Given the description of an element on the screen output the (x, y) to click on. 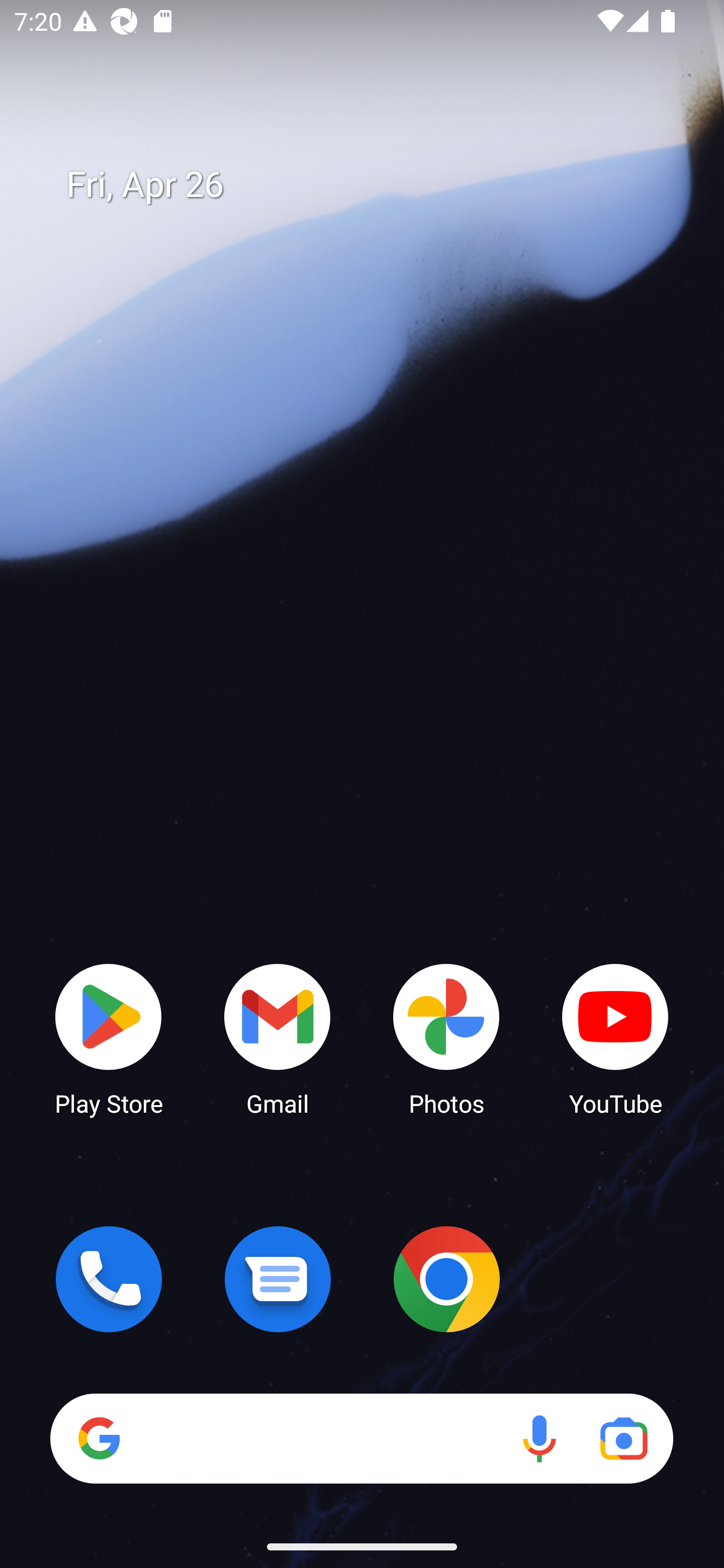
Fri, Apr 26 (375, 184)
Play Store (108, 1038)
Gmail (277, 1038)
Photos (445, 1038)
YouTube (615, 1038)
Phone (108, 1279)
Messages (277, 1279)
Chrome (446, 1279)
Search Voice search Google Lens (361, 1438)
Voice search (539, 1438)
Google Lens (623, 1438)
